Given the description of an element on the screen output the (x, y) to click on. 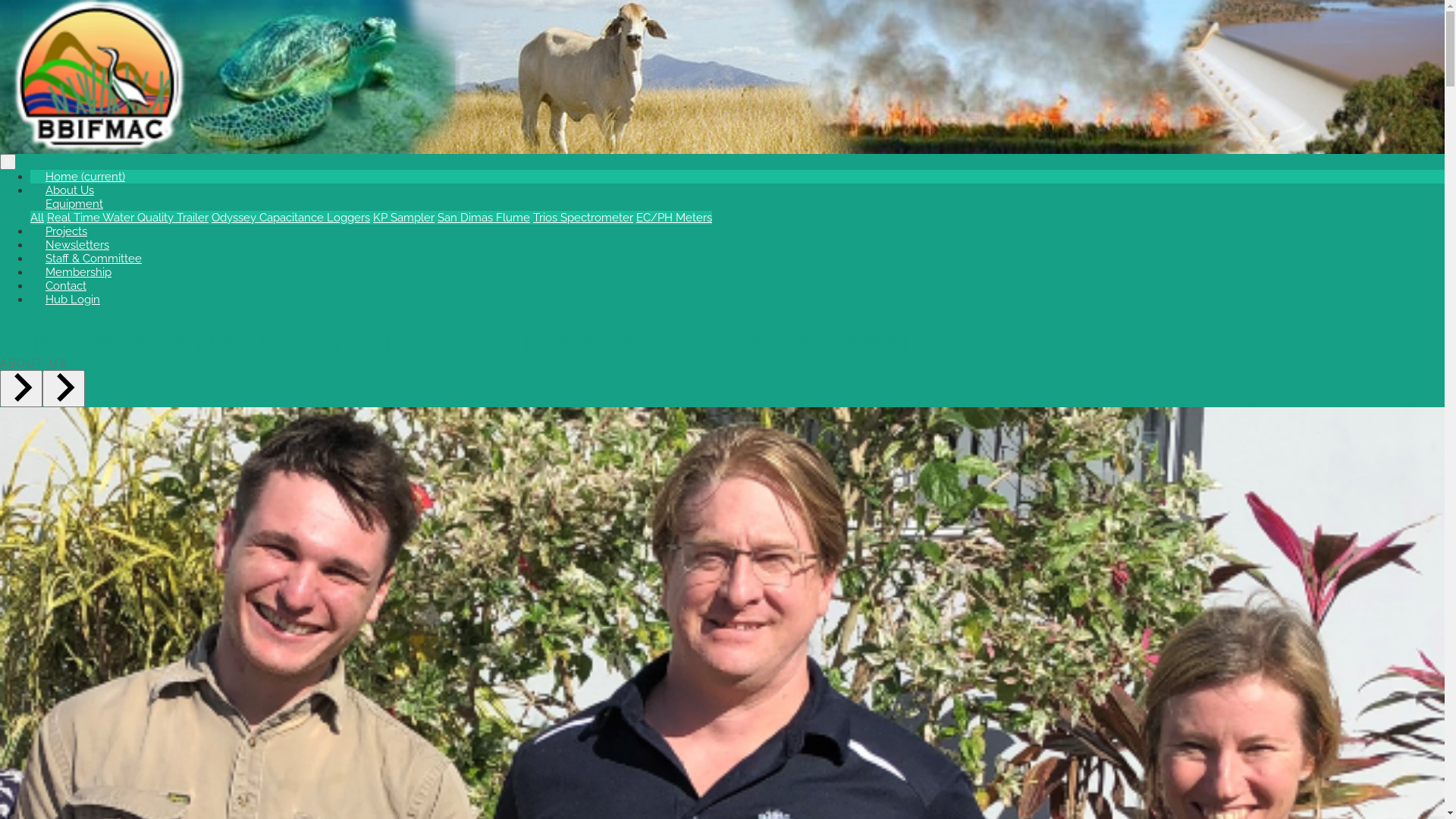
KP Sampler Element type: text (403, 217)
Newsletters Element type: text (77, 244)
Real Time Water Quality Trailer Element type: text (127, 217)
Equipment Element type: text (74, 203)
Hub Login Element type: text (72, 299)
San Dimas Flume Element type: text (483, 217)
Staff & Committee Element type: text (93, 258)
Projects Element type: text (66, 231)
All Element type: text (36, 217)
EC/PH Meters Element type: text (674, 217)
Home (current) Element type: text (85, 176)
Odyssey Capacitance Loggers Element type: text (290, 217)
About Us Element type: text (69, 190)
Membership Element type: text (78, 272)
Trios Spectrometer Element type: text (583, 217)
Contact Element type: text (65, 285)
